Given the description of an element on the screen output the (x, y) to click on. 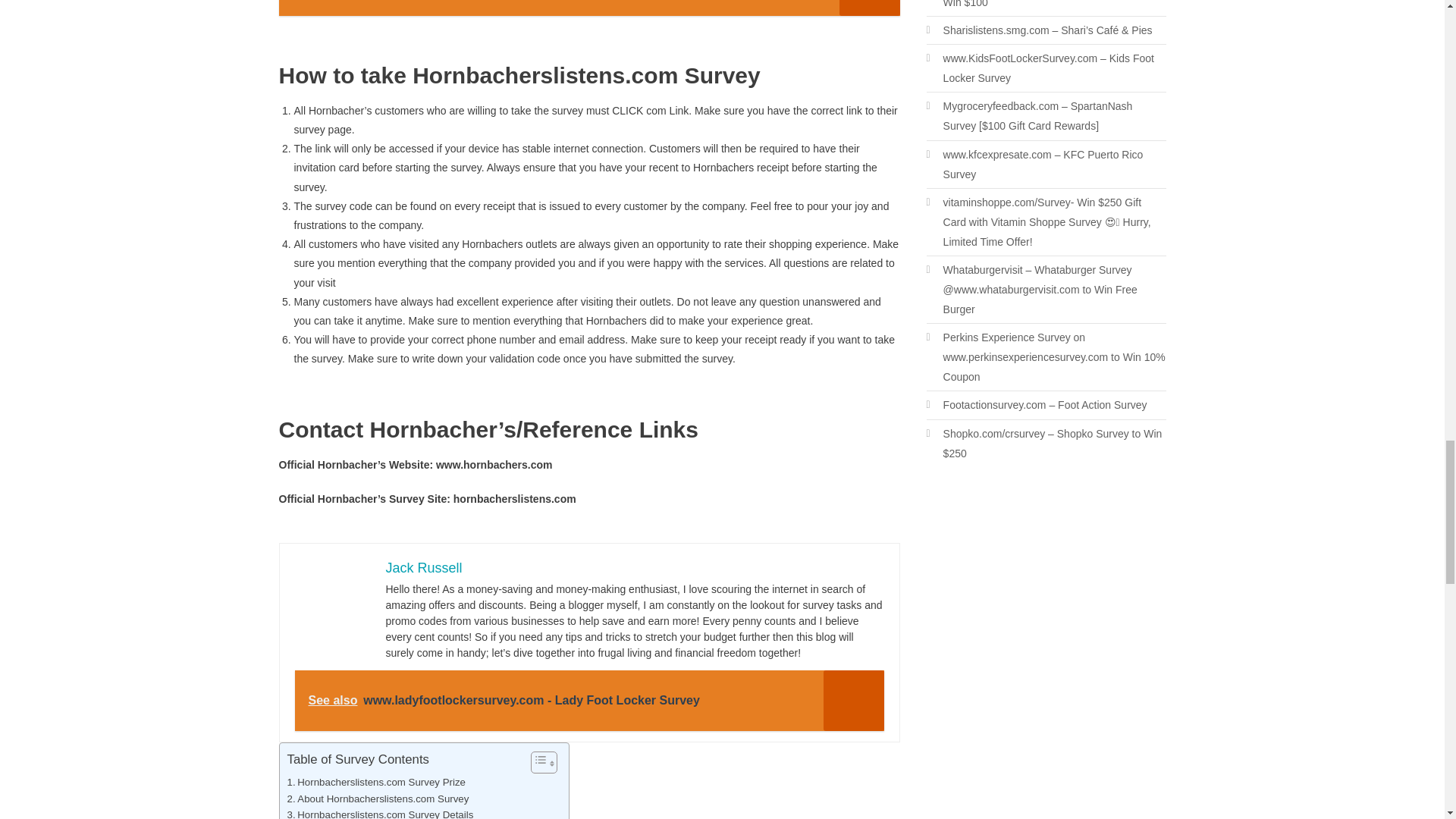
About Hornbacherslistens.com Survey (377, 797)
Jack Russell (423, 567)
About Hornbacherslistens.com Survey (377, 797)
Hornbacherslistens.com Survey Details (379, 812)
Hornbacherslistens.com Survey Prize (375, 781)
Hornbacherslistens.com - Hornbacher's Survey 3 (331, 596)
Hornbacherslistens.com Survey Prize (375, 781)
See also  Tellbam.com - Books-A-Million Survey (589, 7)
Hornbacherslistens.com Survey Details (379, 812)
